Given the description of an element on the screen output the (x, y) to click on. 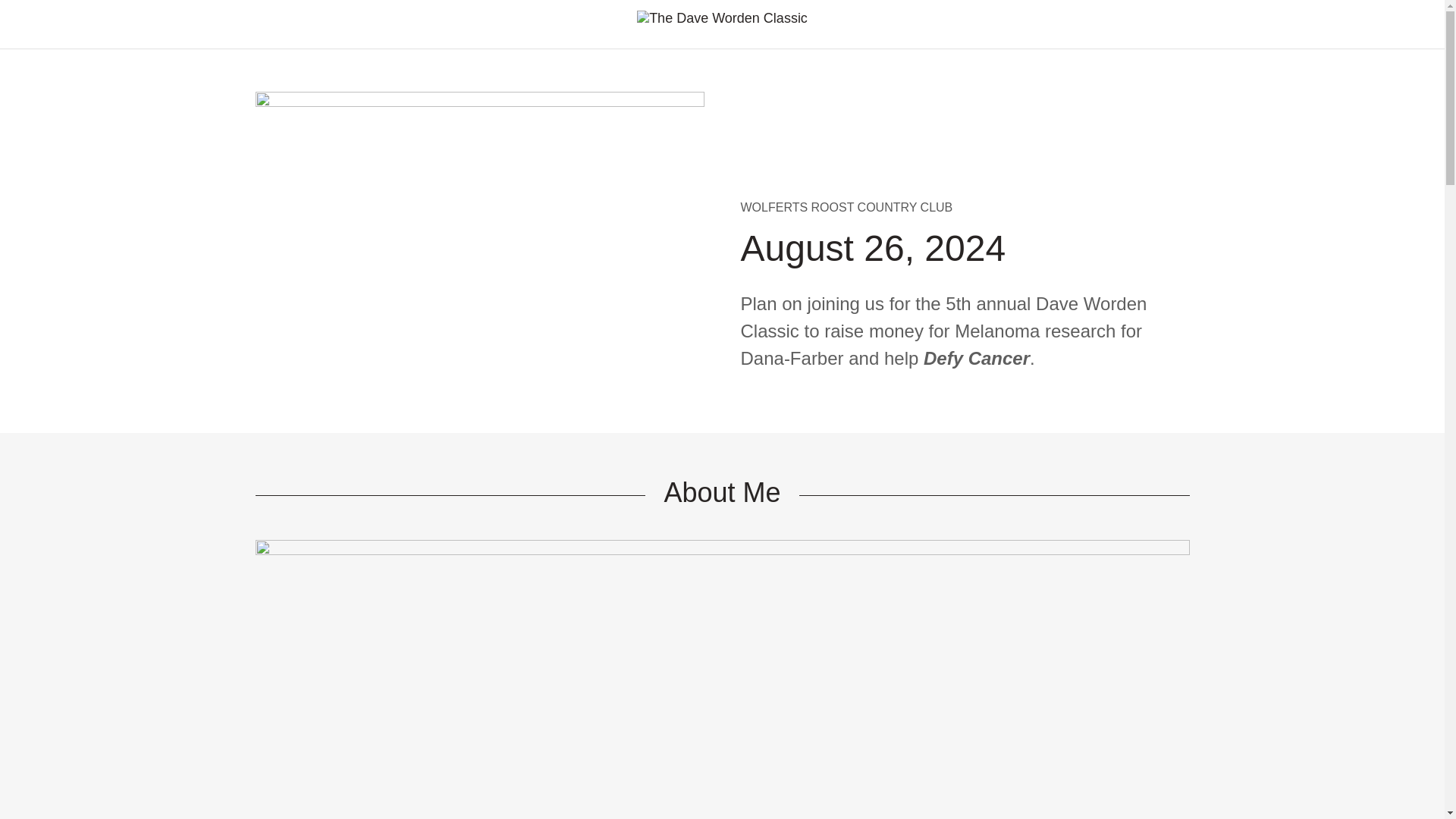
The Dave Worden Classic (722, 16)
